Given the description of an element on the screen output the (x, y) to click on. 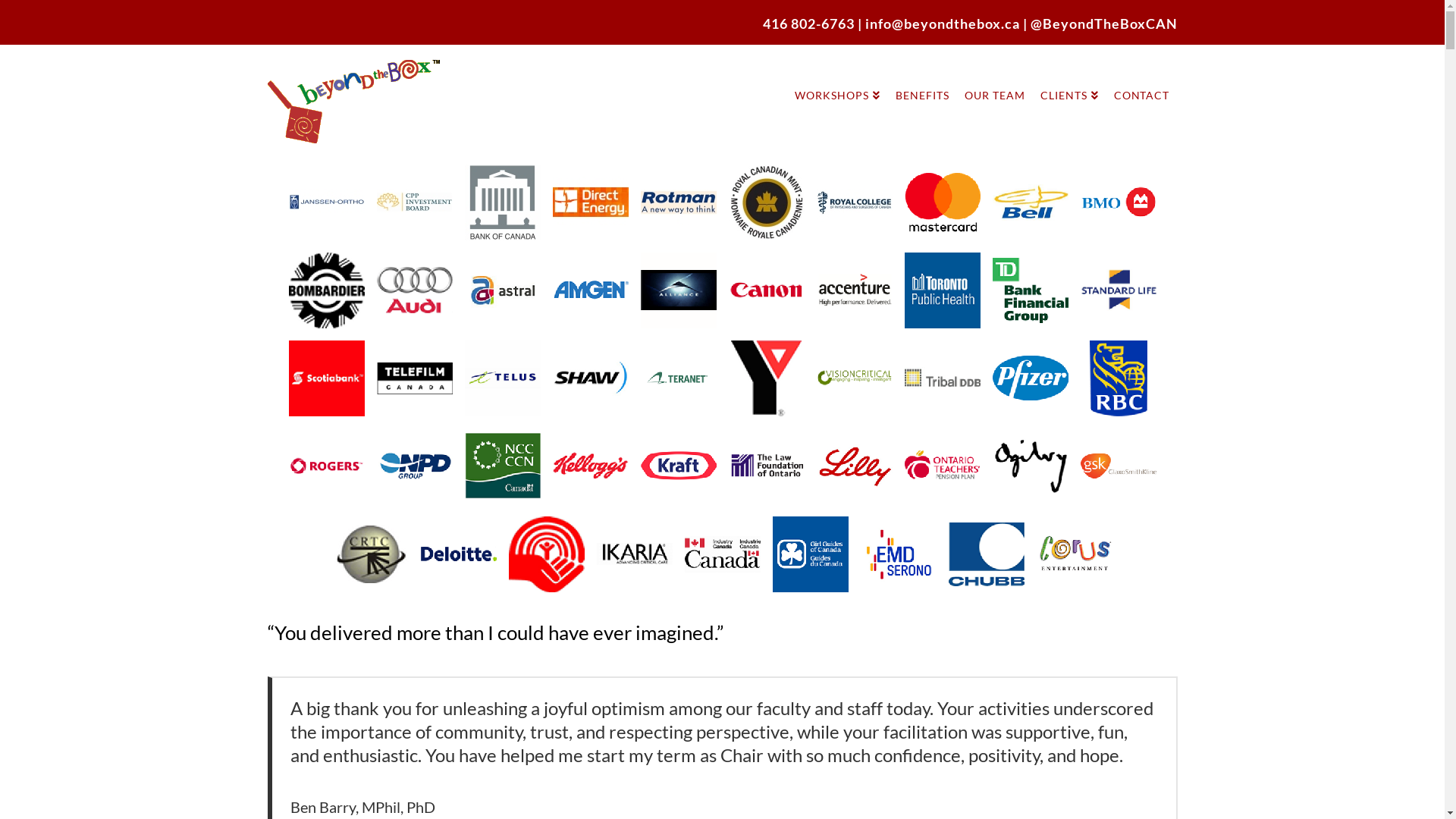
WORKSHOPS Element type: text (837, 78)
BENEFITS Element type: text (922, 78)
416 802-6763 Element type: text (808, 23)
info@beyondthebox.ca Element type: text (943, 23)
CLIENTS Element type: text (1069, 78)
CONTACT Element type: text (1141, 78)
OUR TEAM Element type: text (994, 78)
@BeyondTheBoxCAN Element type: text (1102, 23)
